Given the description of an element on the screen output the (x, y) to click on. 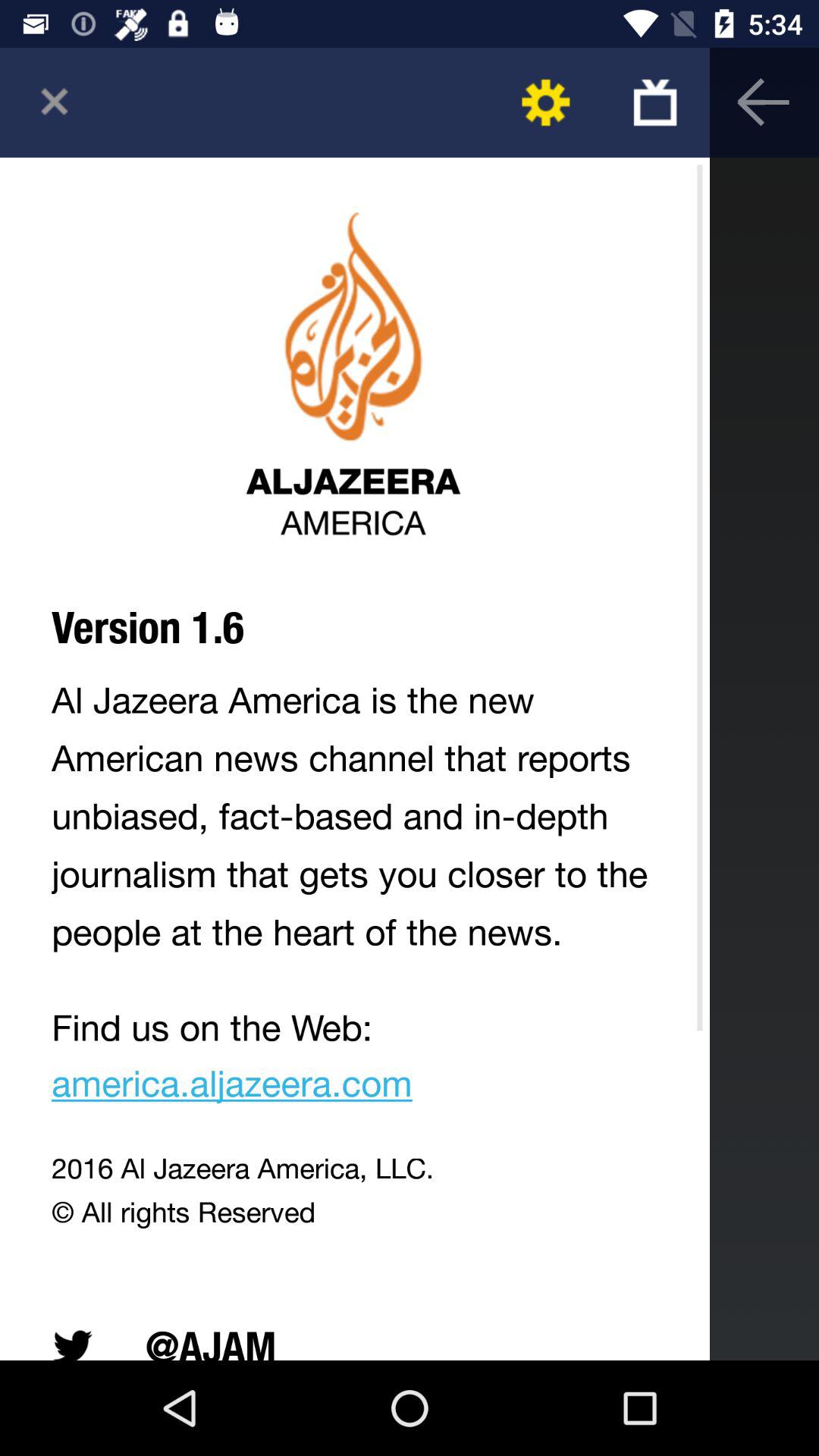
choose the app below the al jazeera america item (354, 1060)
